Given the description of an element on the screen output the (x, y) to click on. 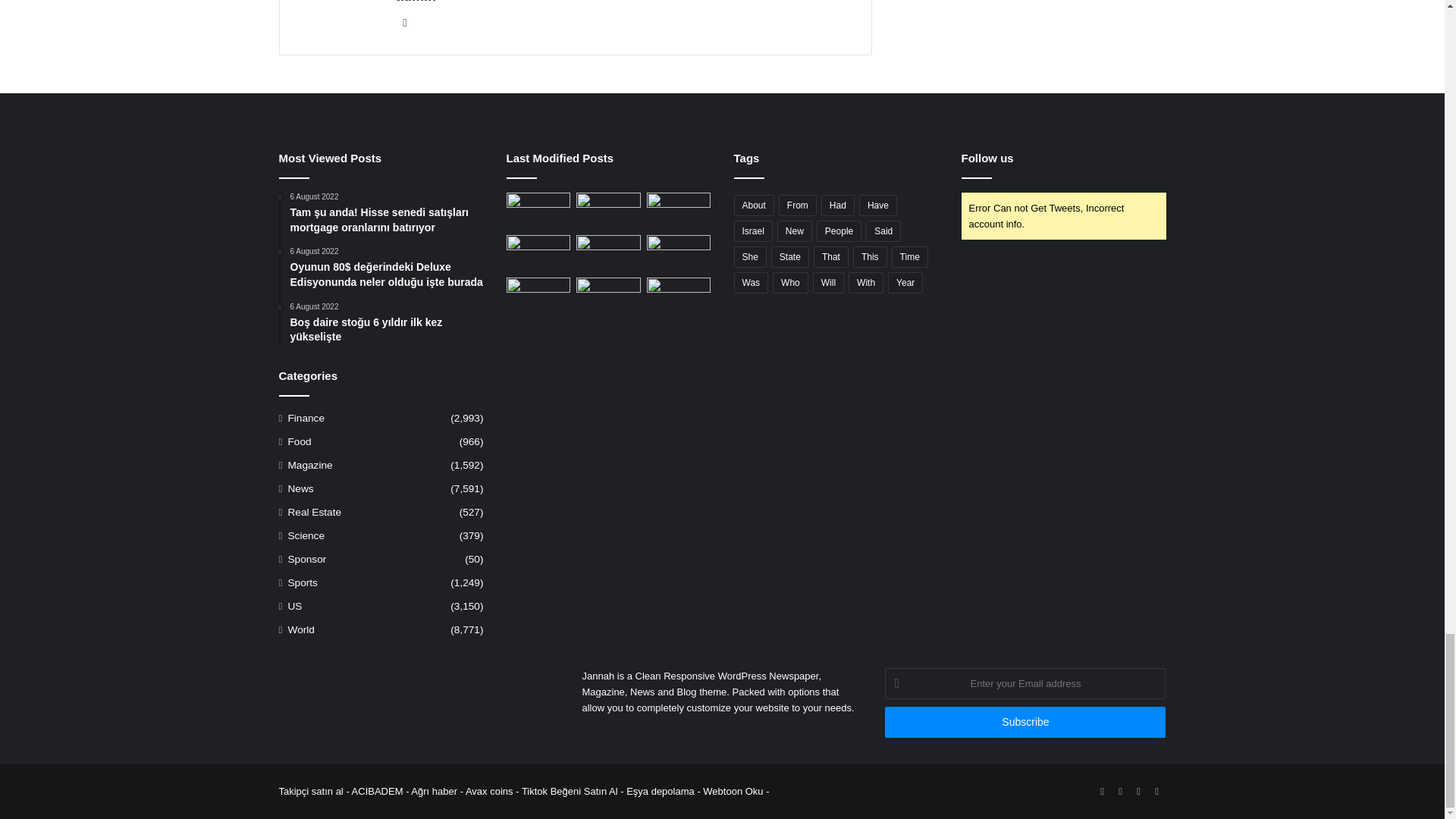
Subscribe (1025, 721)
